Given the description of an element on the screen output the (x, y) to click on. 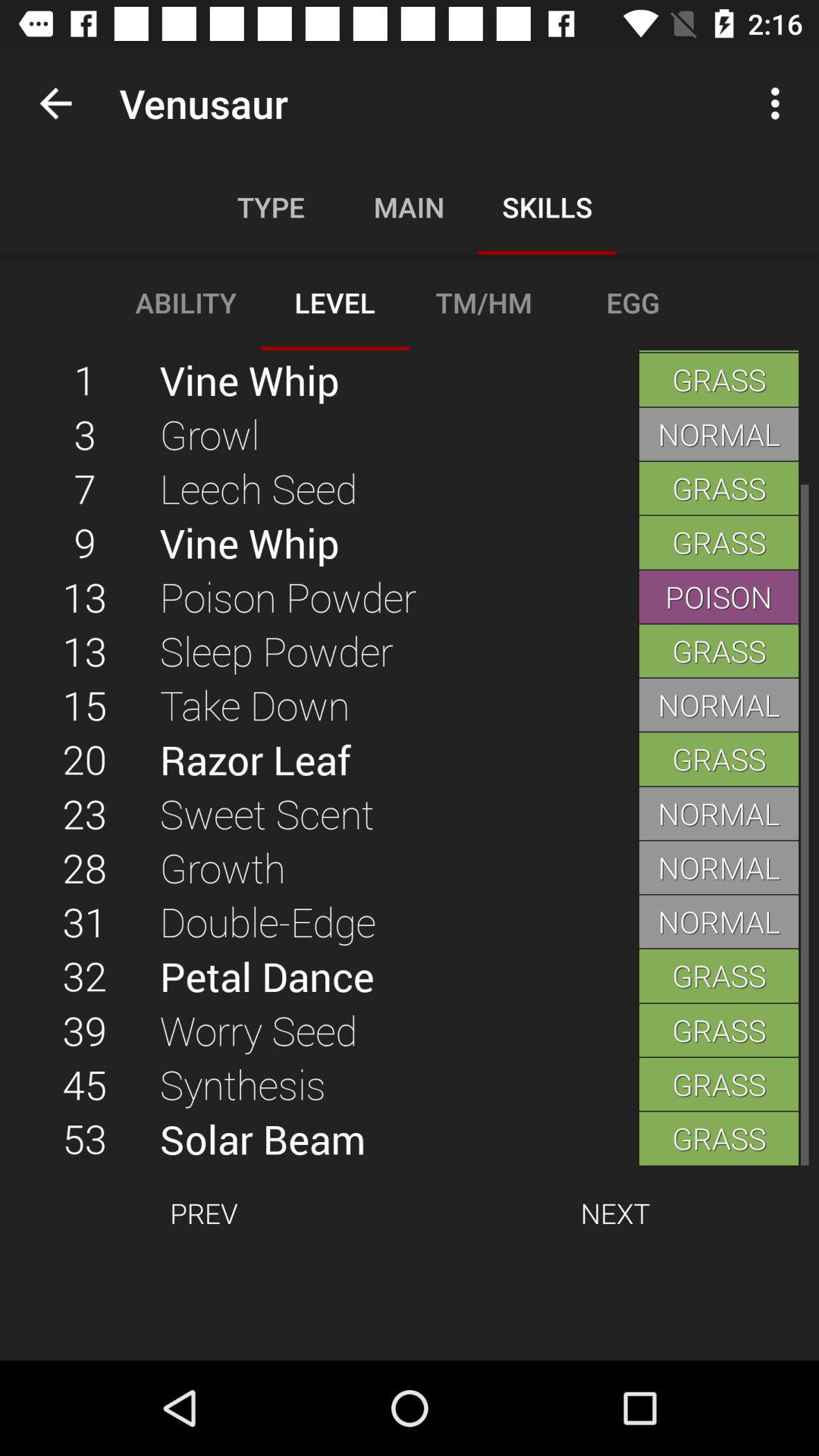
open the item next to the normal icon (399, 759)
